Given the description of an element on the screen output the (x, y) to click on. 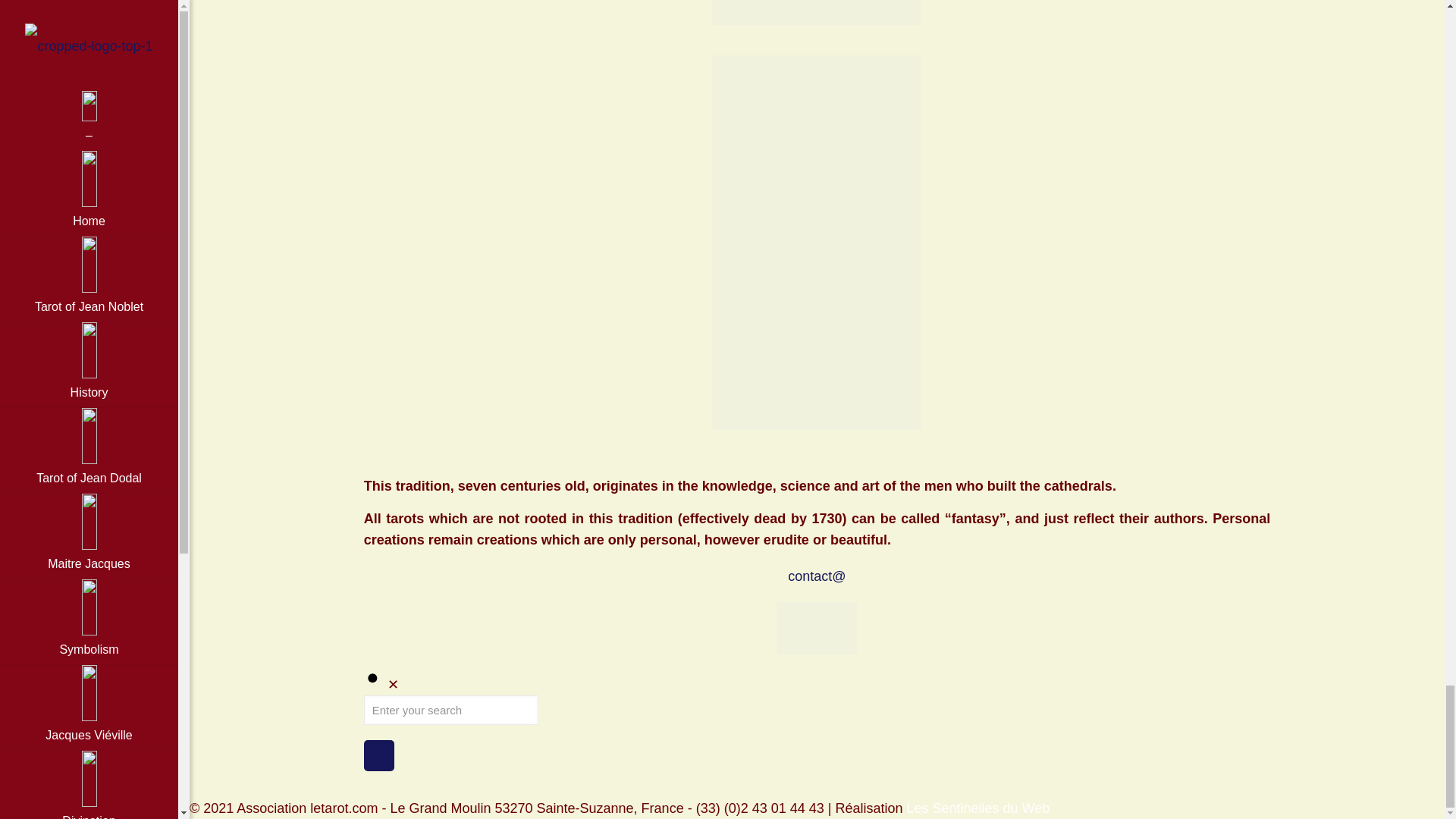
Les Sentinelles du Web (977, 807)
7 (816, 12)
